Given the description of an element on the screen output the (x, y) to click on. 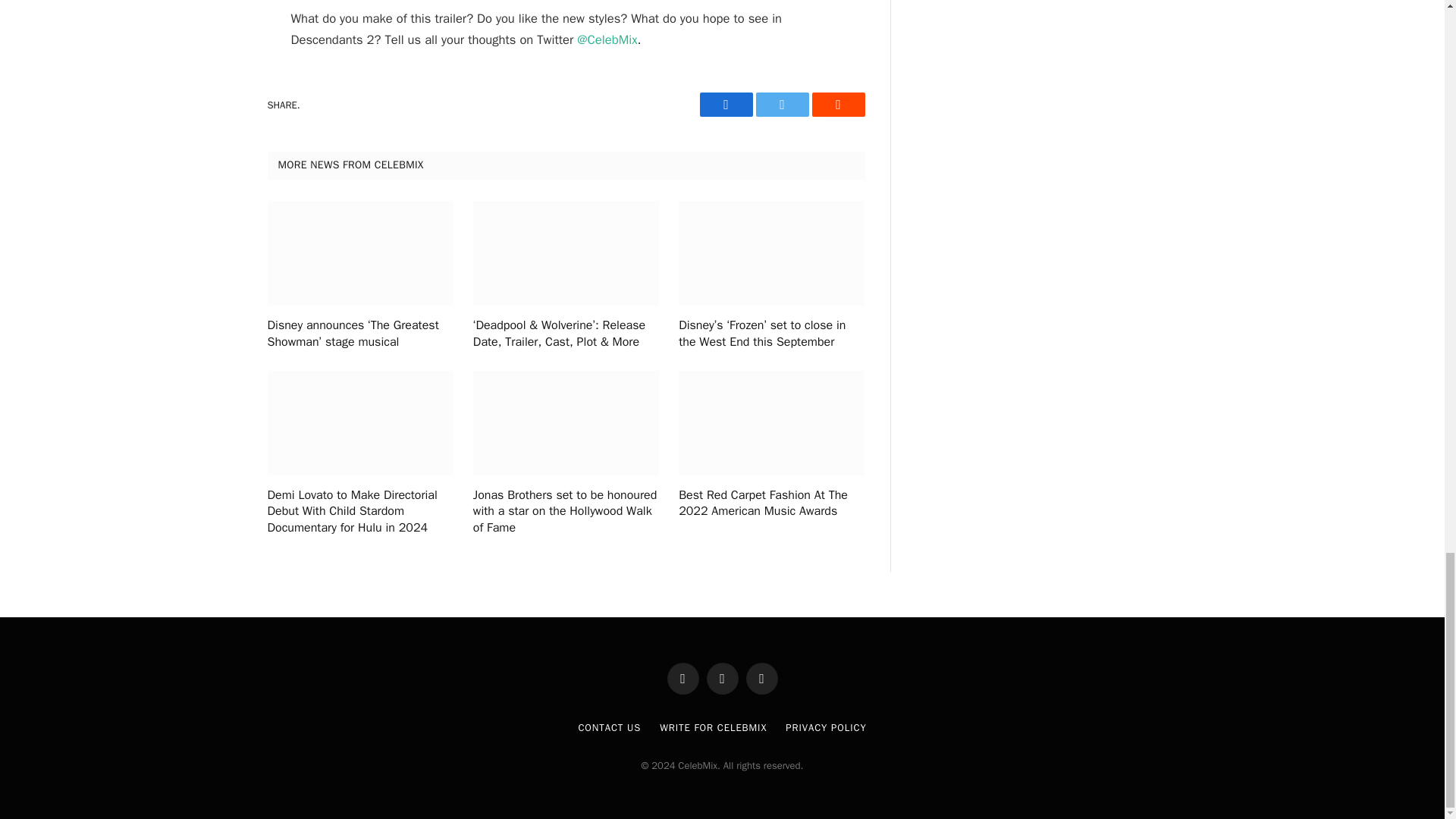
Reddit (837, 104)
Twitter (781, 104)
Facebook (725, 104)
